Given the description of an element on the screen output the (x, y) to click on. 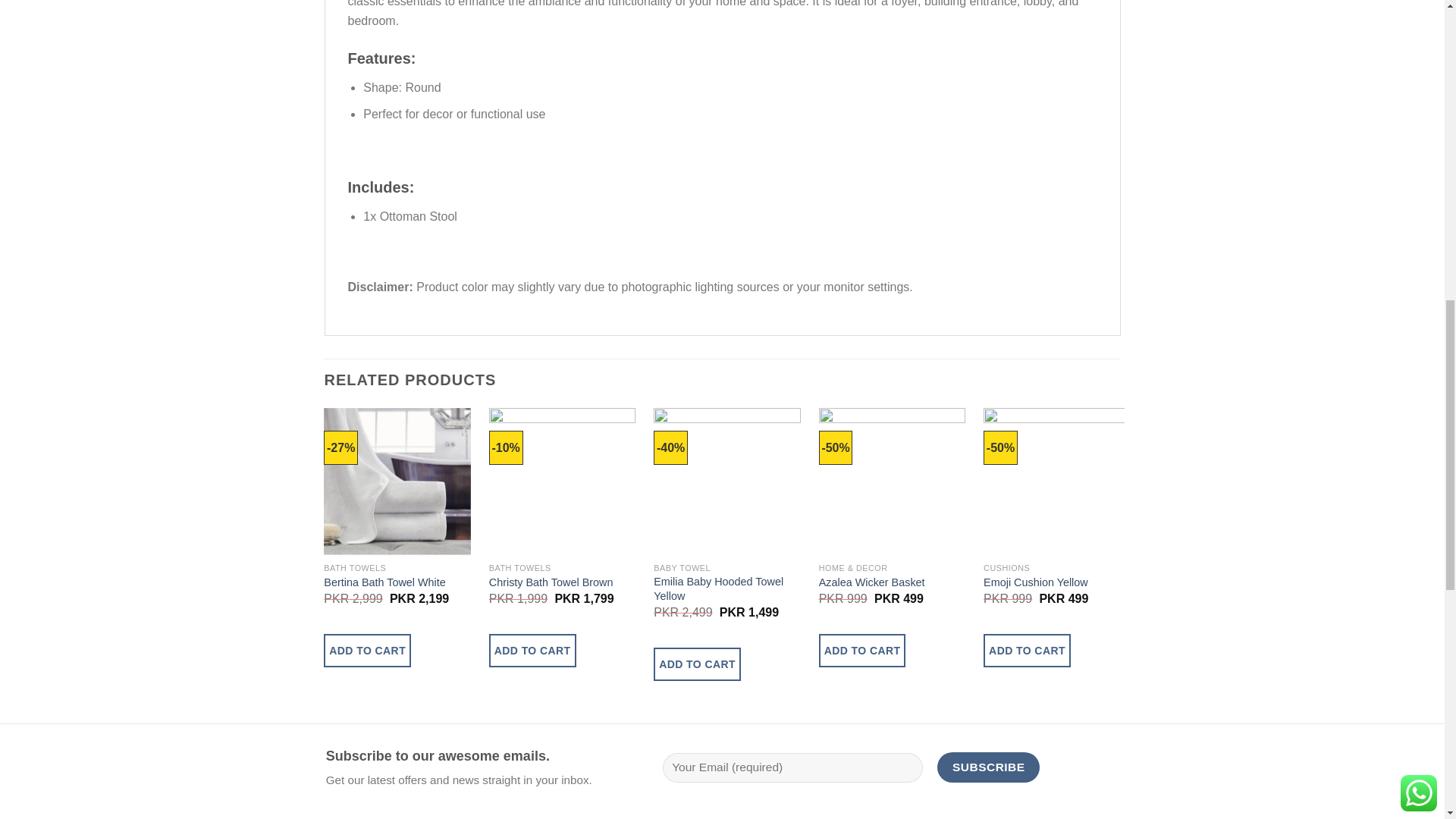
Subscribe (988, 767)
